Given the description of an element on the screen output the (x, y) to click on. 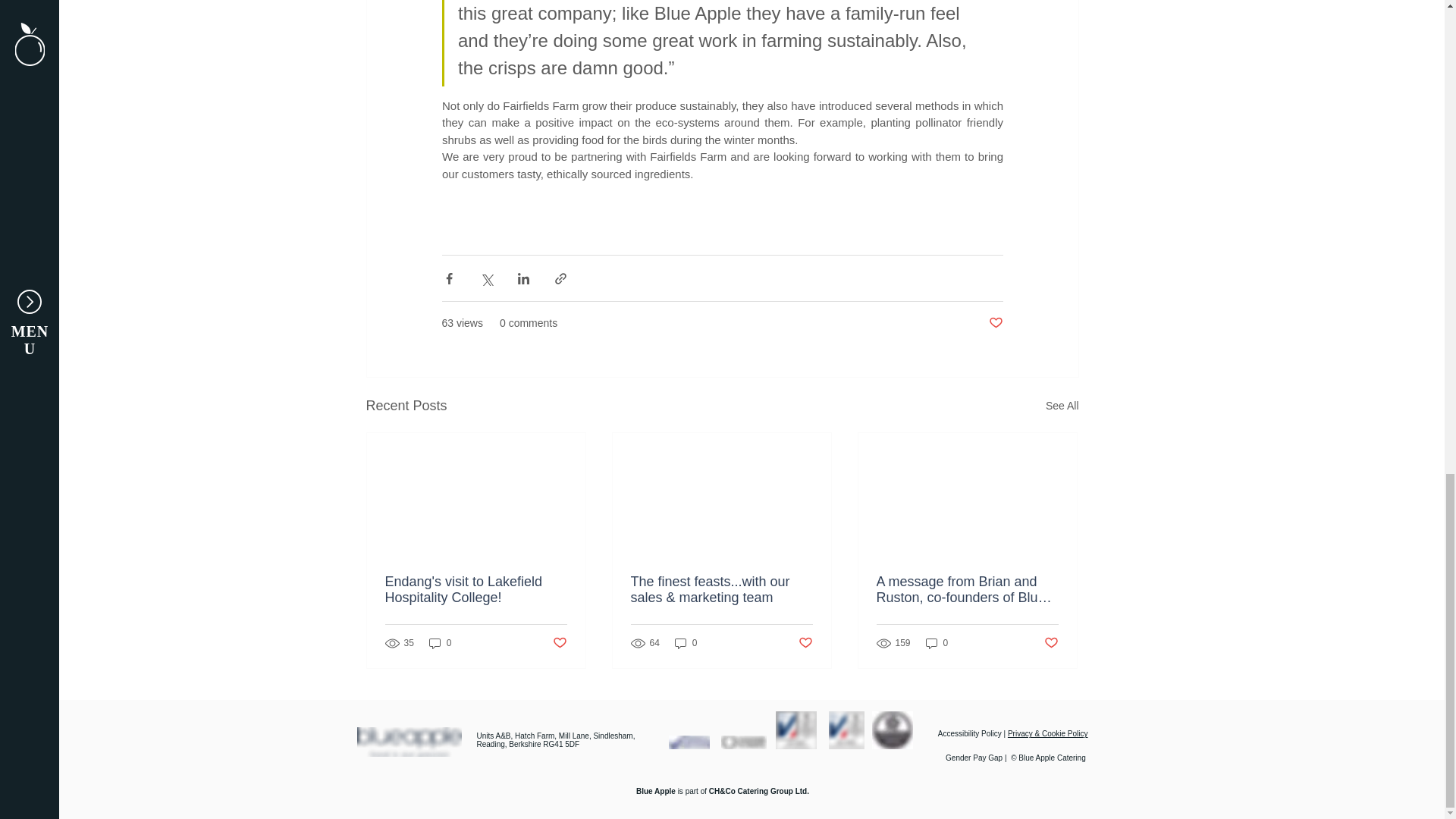
0 (685, 643)
Post not marked as liked (558, 643)
Post not marked as liked (804, 643)
Post not marked as liked (1050, 643)
Endang's visit to Lakefield Hospitality College! (476, 590)
0 (937, 643)
0 (440, 643)
See All (1061, 405)
A message from Brian and Ruston, co-founders of Blue Apple (967, 590)
Accessibility Policy (969, 733)
Post not marked as liked (995, 323)
